Given the description of an element on the screen output the (x, y) to click on. 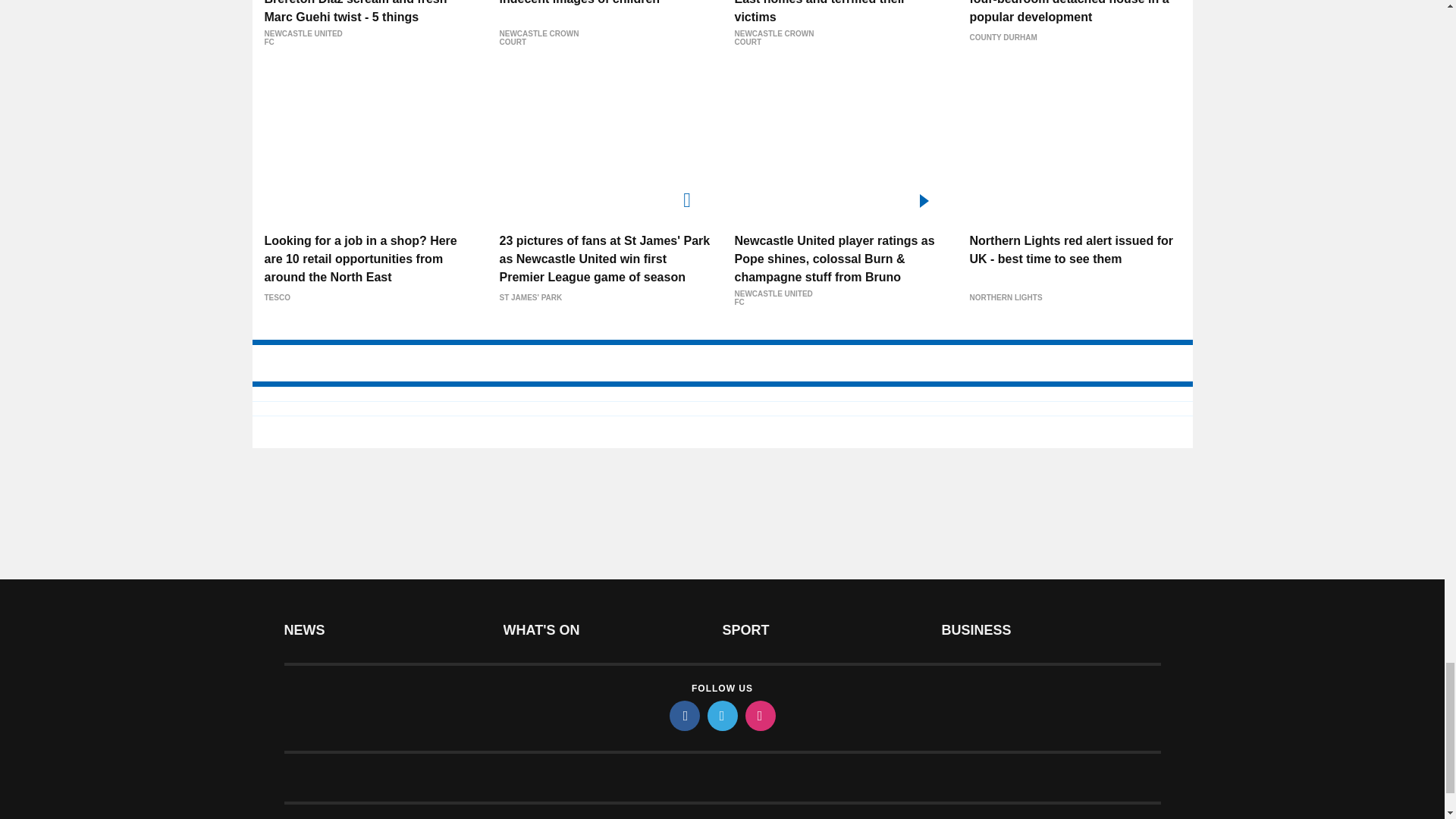
instagram (759, 716)
twitter (721, 716)
facebook (683, 716)
